Given the description of an element on the screen output the (x, y) to click on. 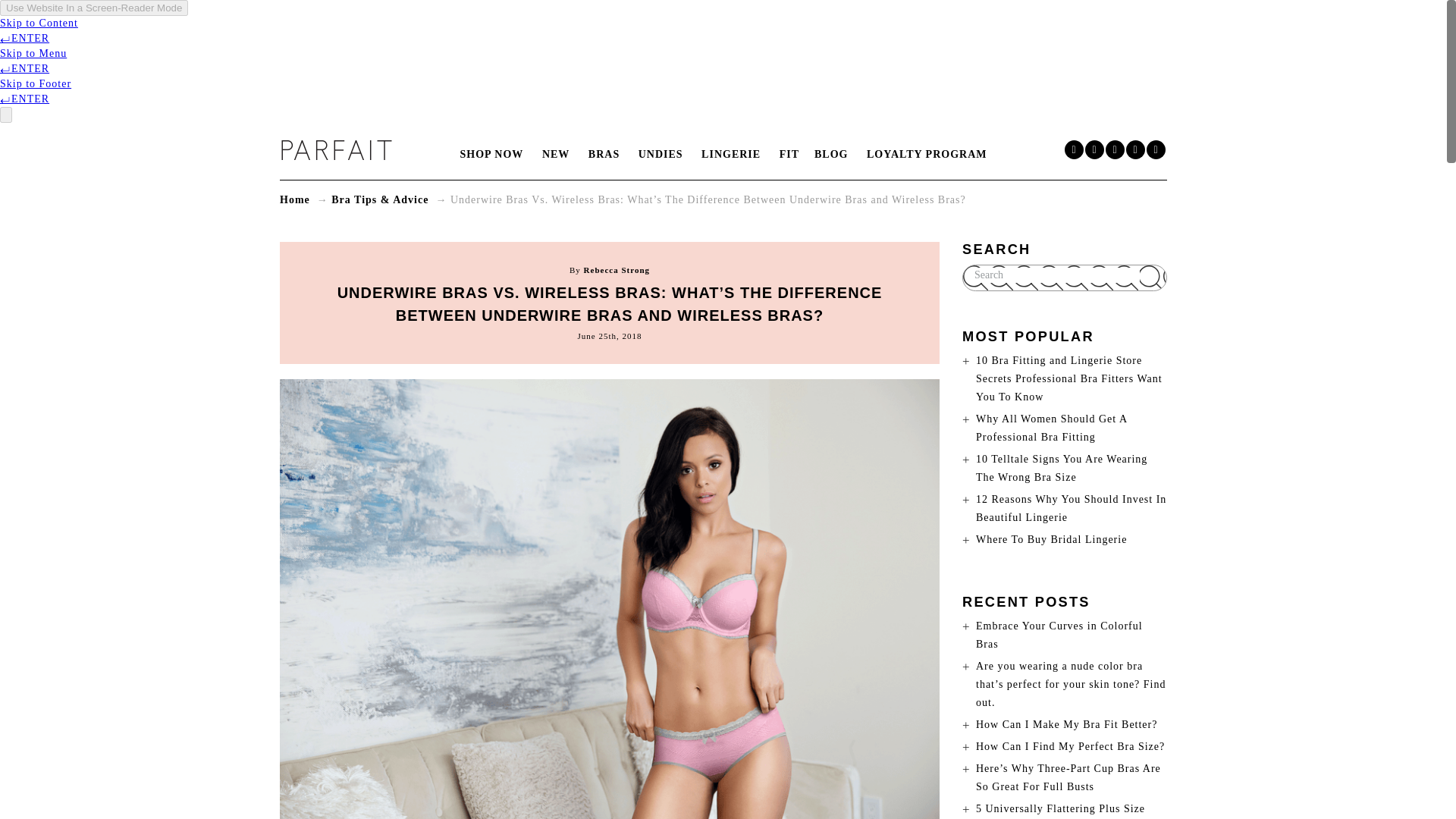
BRAS (603, 153)
Home (294, 199)
FIT (788, 153)
LINGERIE (731, 153)
UNDIES (660, 153)
LOYALTY PROGRAM (926, 153)
NEW (555, 153)
BLOG (830, 153)
SHOP NOW (491, 153)
